Given the description of an element on the screen output the (x, y) to click on. 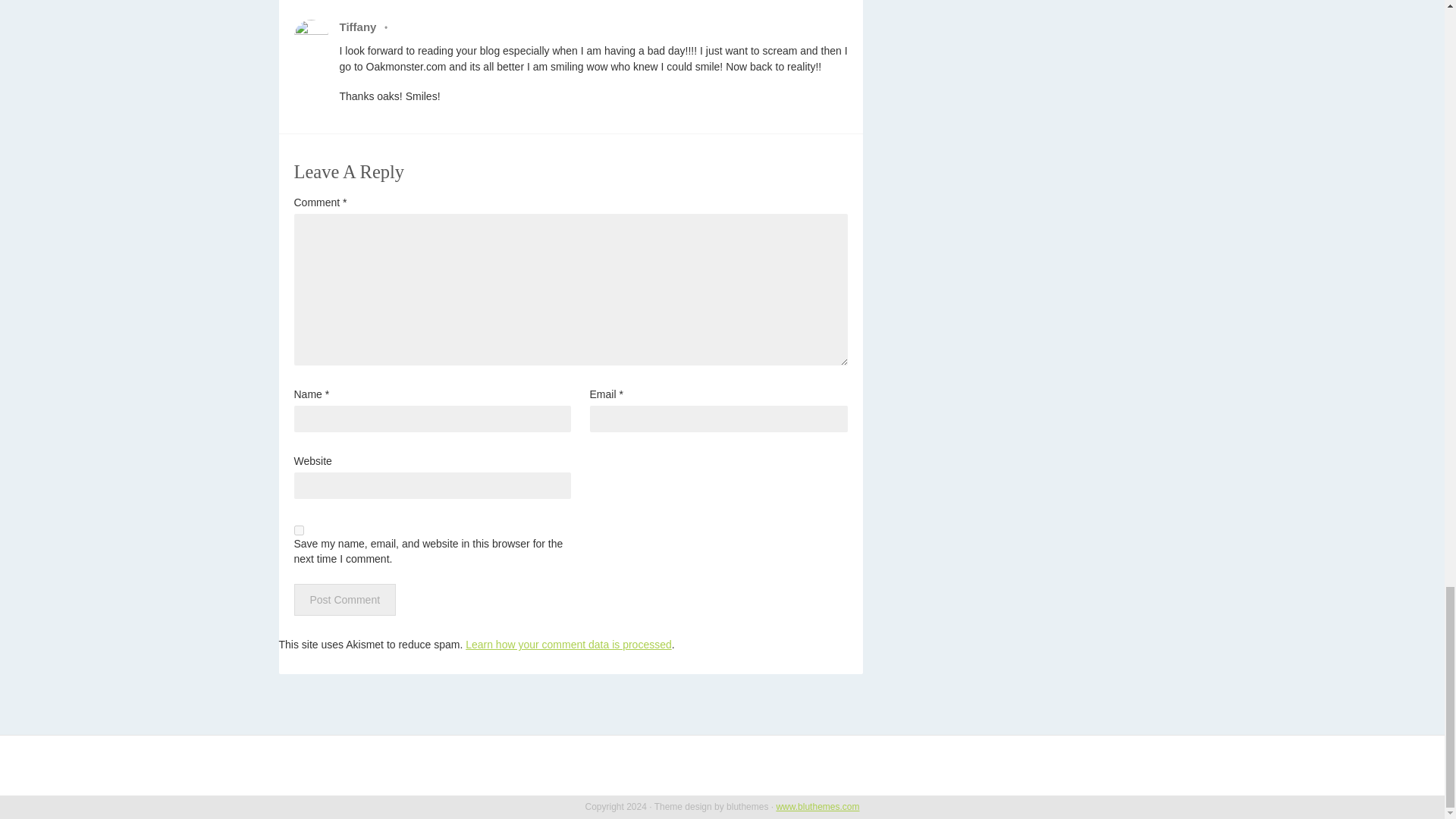
yes (299, 530)
Post Comment (345, 599)
